Given the description of an element on the screen output the (x, y) to click on. 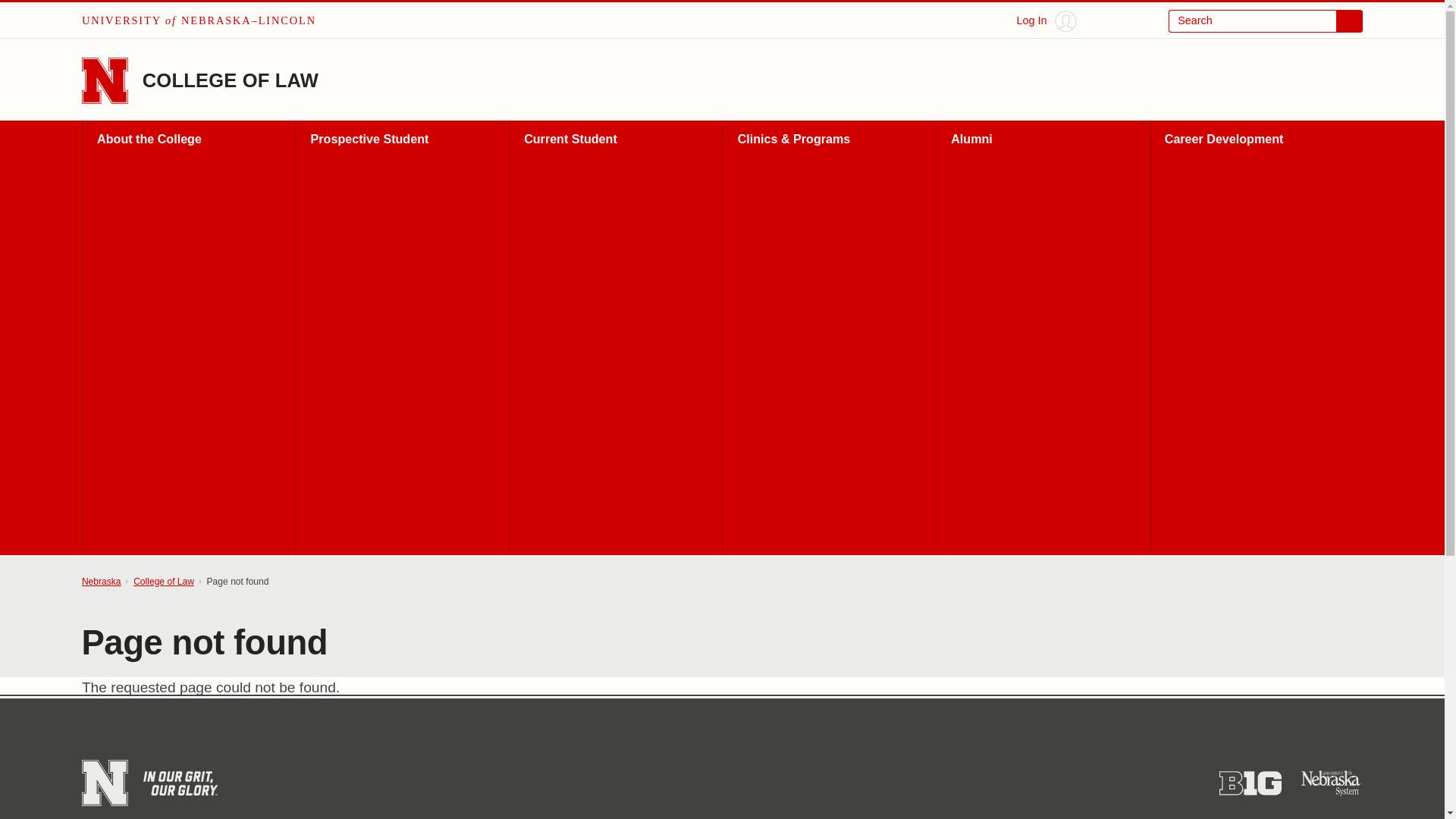
Search (1265, 21)
COLLEGE OF LAW (230, 79)
Log In (1046, 21)
Skip to main content (19, 16)
